Given the description of an element on the screen output the (x, y) to click on. 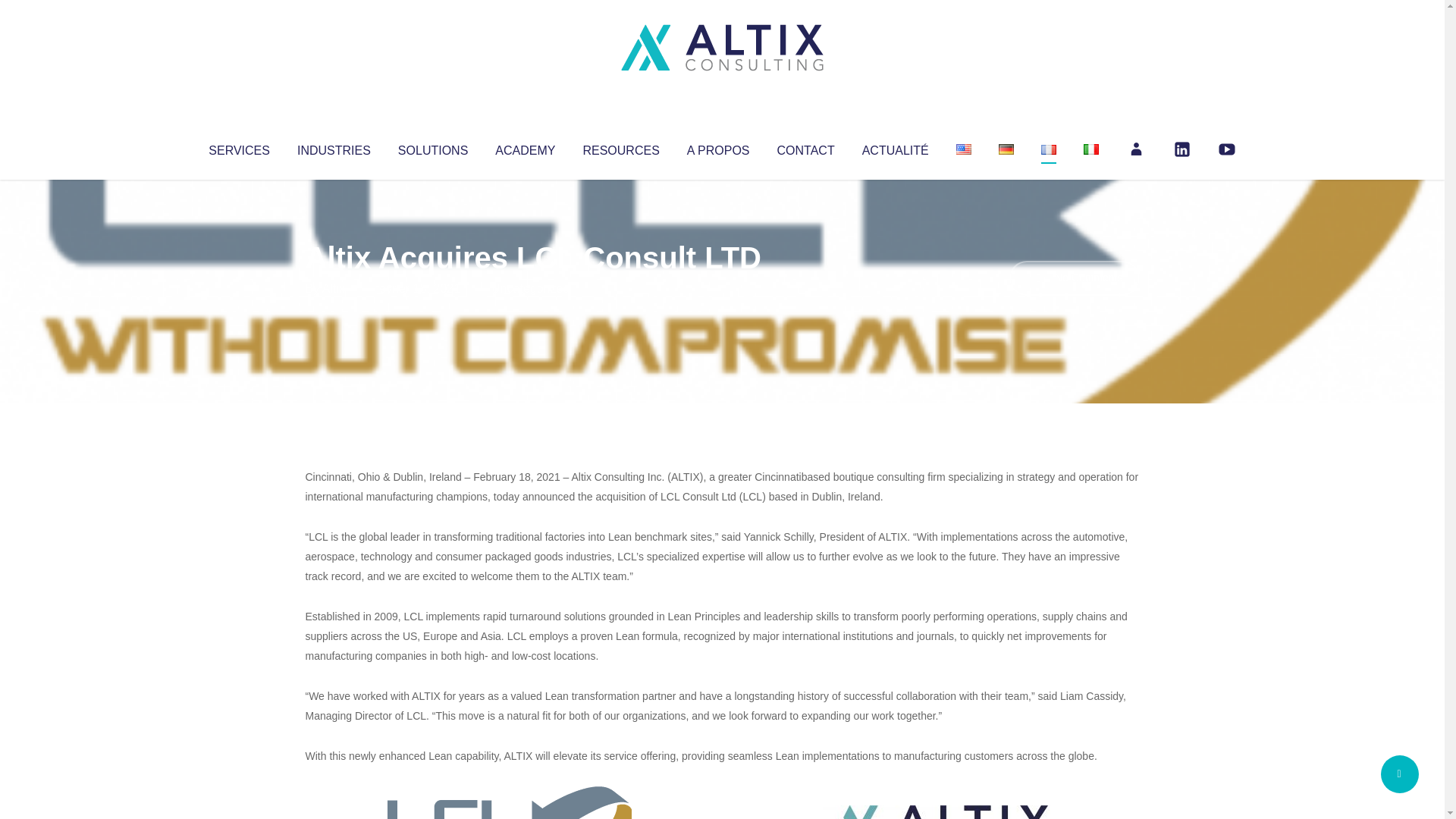
ACADEMY (524, 146)
RESOURCES (620, 146)
Articles par Altix (333, 287)
SERVICES (238, 146)
INDUSTRIES (334, 146)
A PROPOS (718, 146)
Altix (333, 287)
SOLUTIONS (432, 146)
Uncategorized (530, 287)
No Comments (1073, 278)
